Given the description of an element on the screen output the (x, y) to click on. 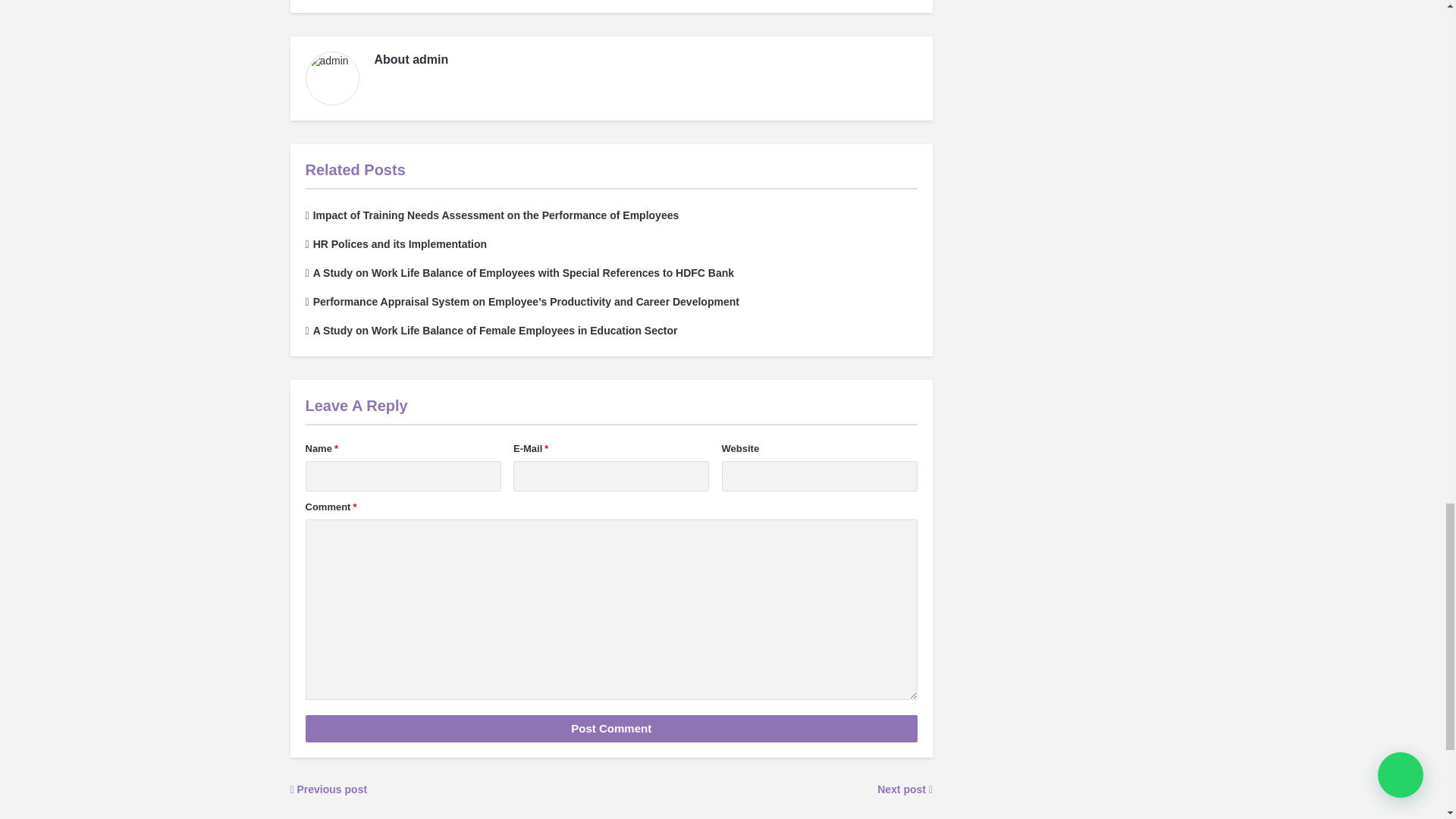
Post Comment (610, 728)
HR Polices and its Implementation (395, 244)
